Given the description of an element on the screen output the (x, y) to click on. 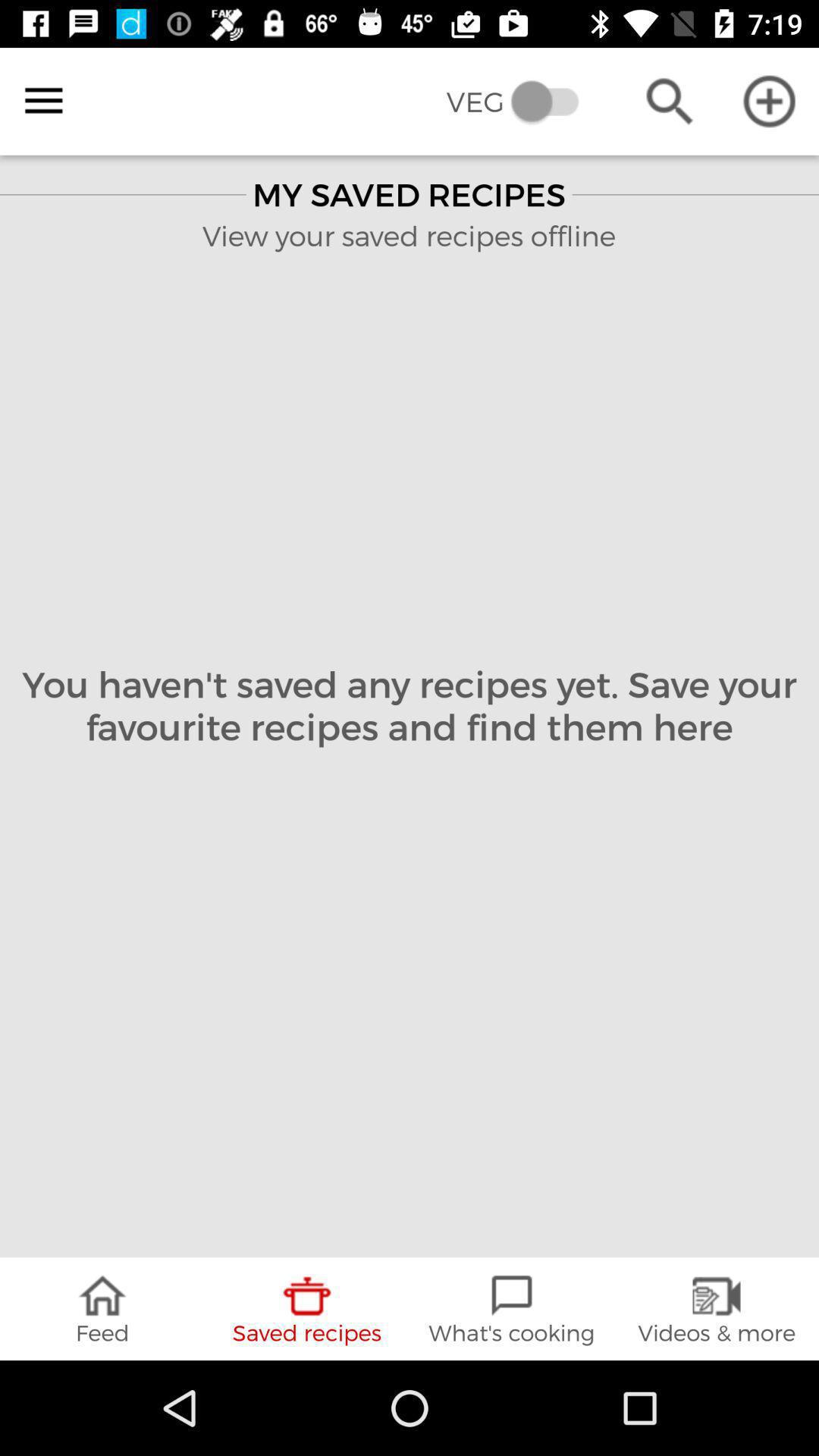
press videos & more at the bottom right corner (716, 1308)
